Given the description of an element on the screen output the (x, y) to click on. 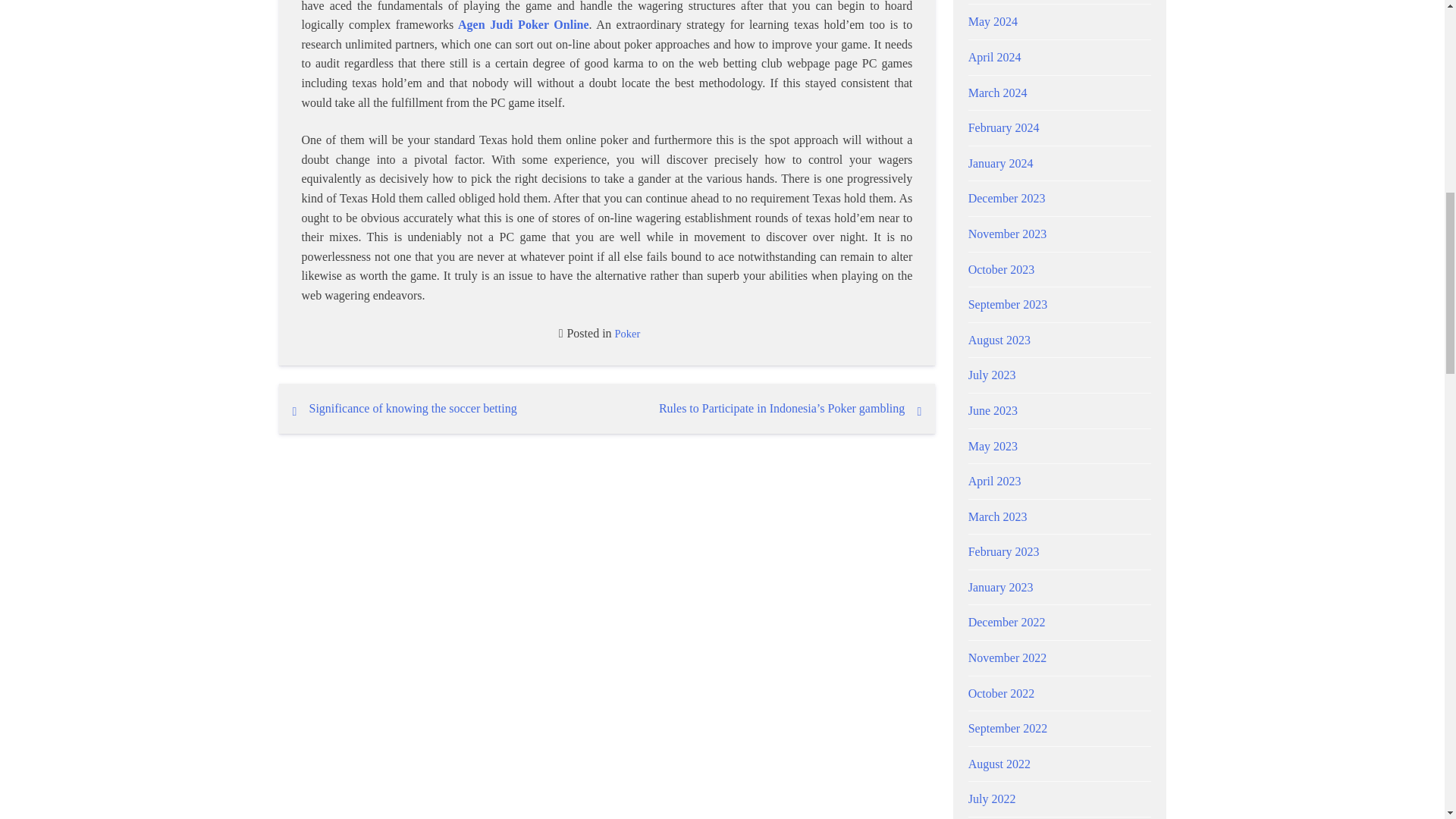
May 2024 (992, 21)
July 2023 (992, 374)
November 2023 (1007, 233)
September 2023 (1007, 304)
Poker (627, 333)
Agen Judi Poker Online (523, 24)
January 2024 (1000, 163)
April 2023 (995, 481)
May 2023 (992, 445)
February 2024 (1003, 127)
April 2024 (995, 56)
December 2023 (1006, 197)
March 2024 (997, 92)
October 2023 (1001, 269)
March 2023 (997, 516)
